Given the description of an element on the screen output the (x, y) to click on. 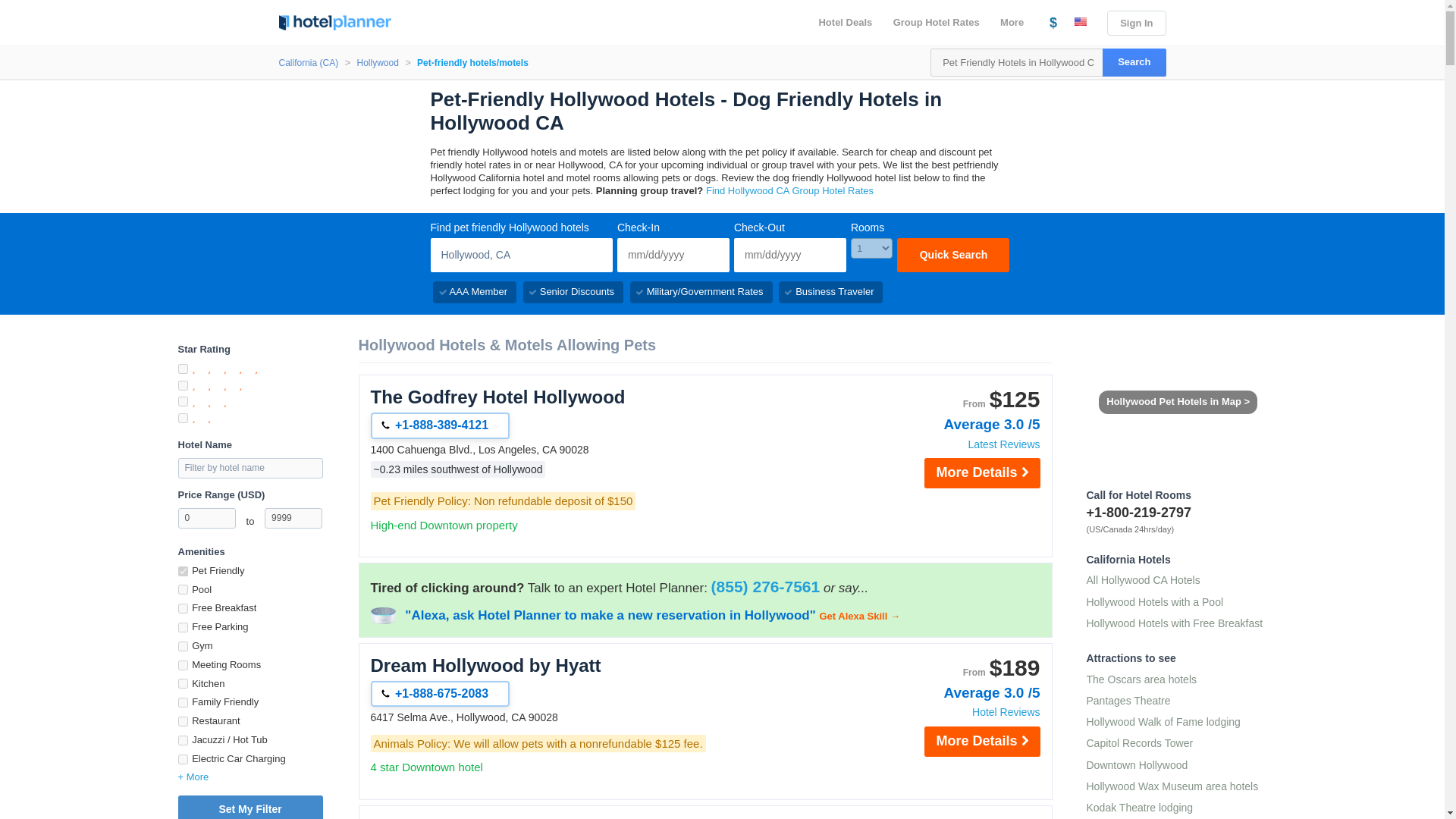
Quick Search (952, 254)
9 (182, 646)
The Godfrey Hotel Hollywood (546, 397)
Sign In (1136, 23)
Hotel Deals (844, 22)
Group Hotel Rates (935, 22)
5 (182, 368)
Set My Filter (249, 807)
0 (205, 517)
2 (182, 418)
